Given the description of an element on the screen output the (x, y) to click on. 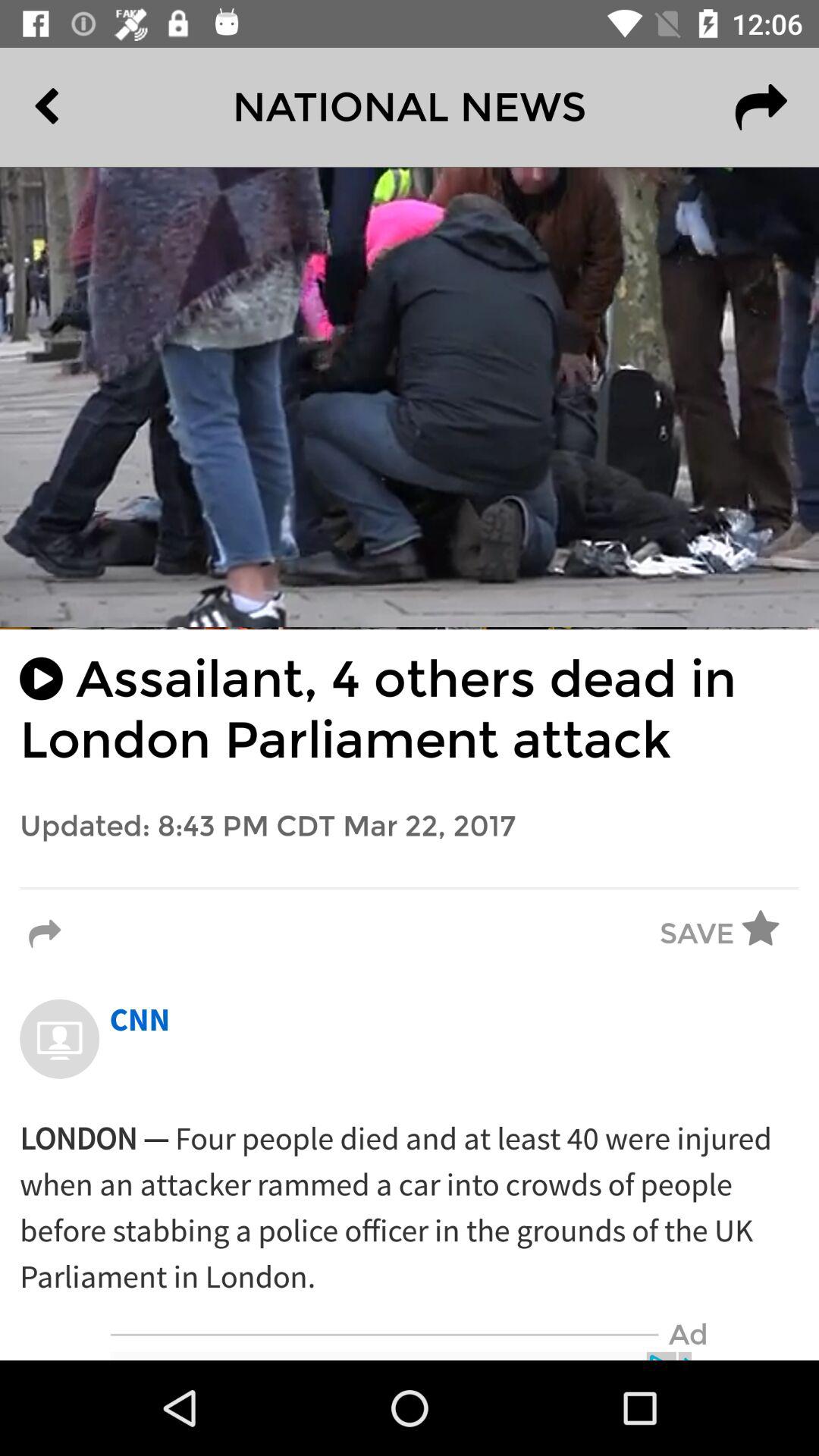
jump until the assailant 4 others (409, 709)
